Given the description of an element on the screen output the (x, y) to click on. 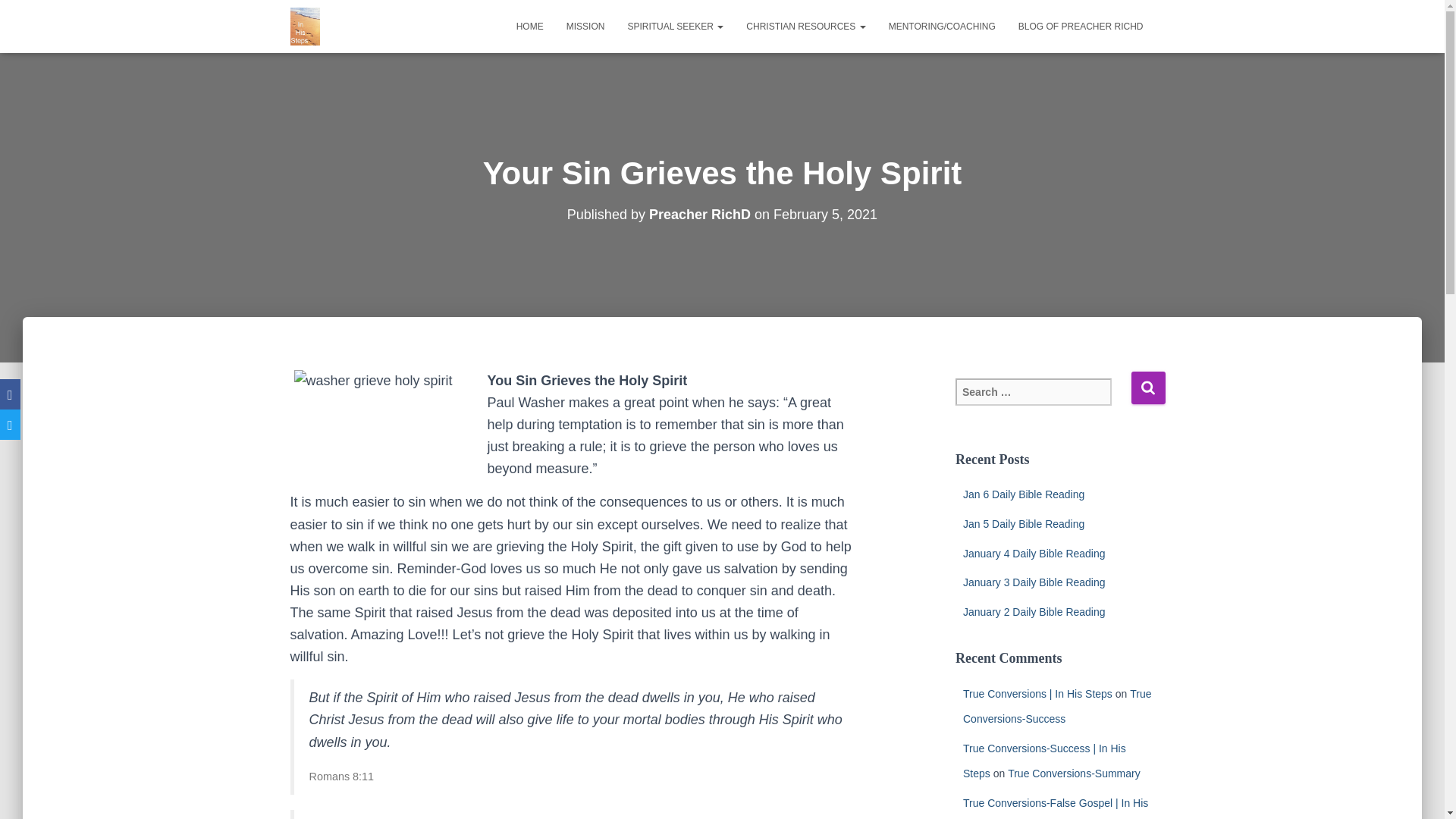
SPIRITUAL SEEKER (675, 26)
Search (1148, 387)
Mission (584, 26)
Search (1148, 387)
MISSION (584, 26)
HOME (529, 26)
In His Steps (305, 26)
Home (529, 26)
BLOG OF PREACHER RICHD (1080, 26)
Spiritual Seeker (675, 26)
